Given the description of an element on the screen output the (x, y) to click on. 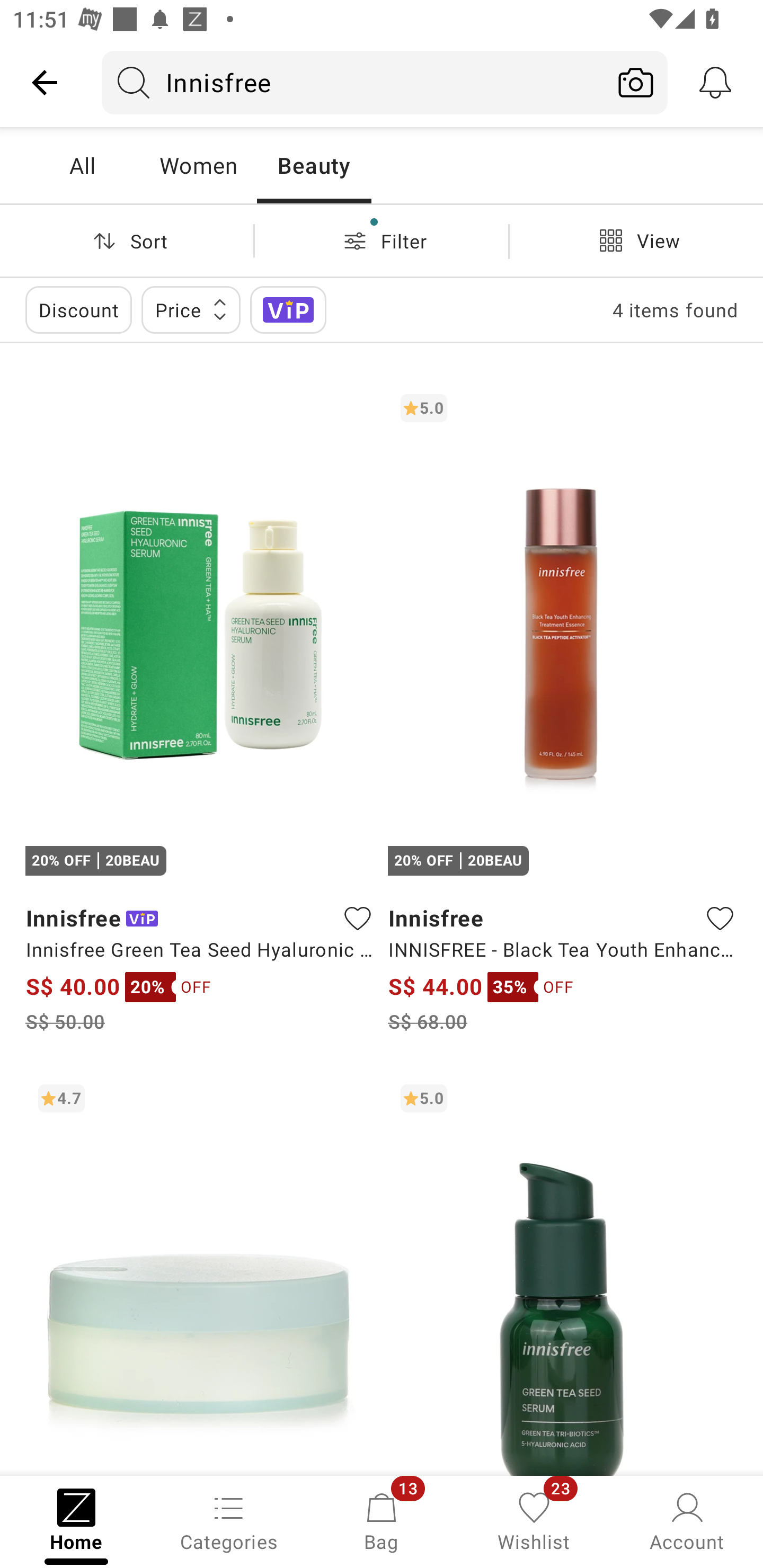
Navigate up (44, 82)
Innisfree (352, 82)
All (82, 165)
Women (198, 165)
Sort (126, 240)
Filter (381, 240)
View (636, 240)
Discount (78, 309)
Price (190, 309)
4.7 (200, 1272)
5.0 (562, 1272)
Categories (228, 1519)
Bag, 13 new notifications Bag (381, 1519)
Wishlist, 23 new notifications Wishlist (533, 1519)
Account (686, 1519)
